Given the description of an element on the screen output the (x, y) to click on. 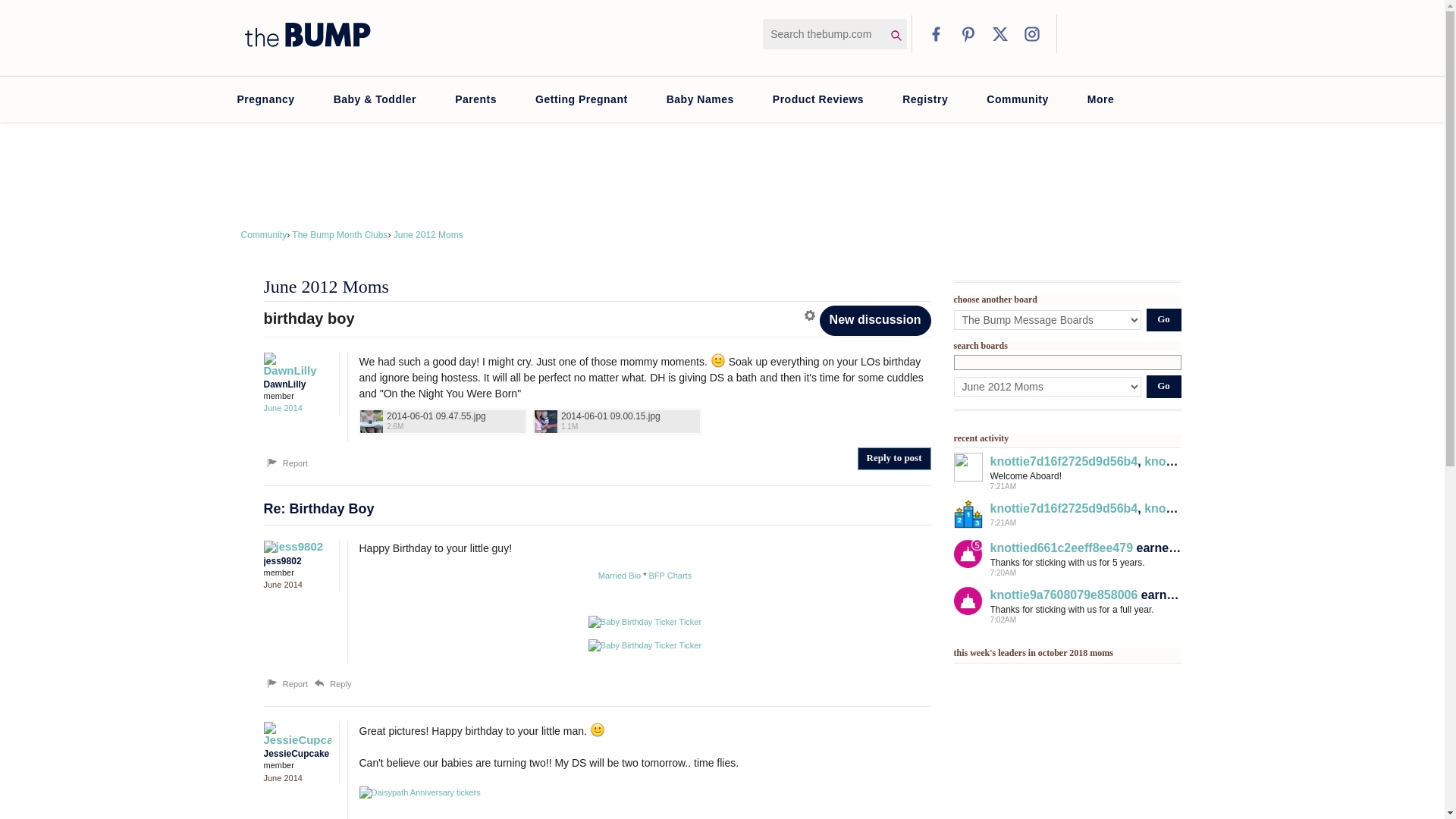
Report (285, 684)
Options (811, 315)
JessieCupcake (293, 733)
June 2, 2014 2:12AM (282, 583)
Go (1163, 319)
Pregnancy (264, 99)
Go (1163, 386)
DawnLilly (293, 363)
2014-06-01 09.47.55.jpg (442, 421)
member (297, 572)
